Given the description of an element on the screen output the (x, y) to click on. 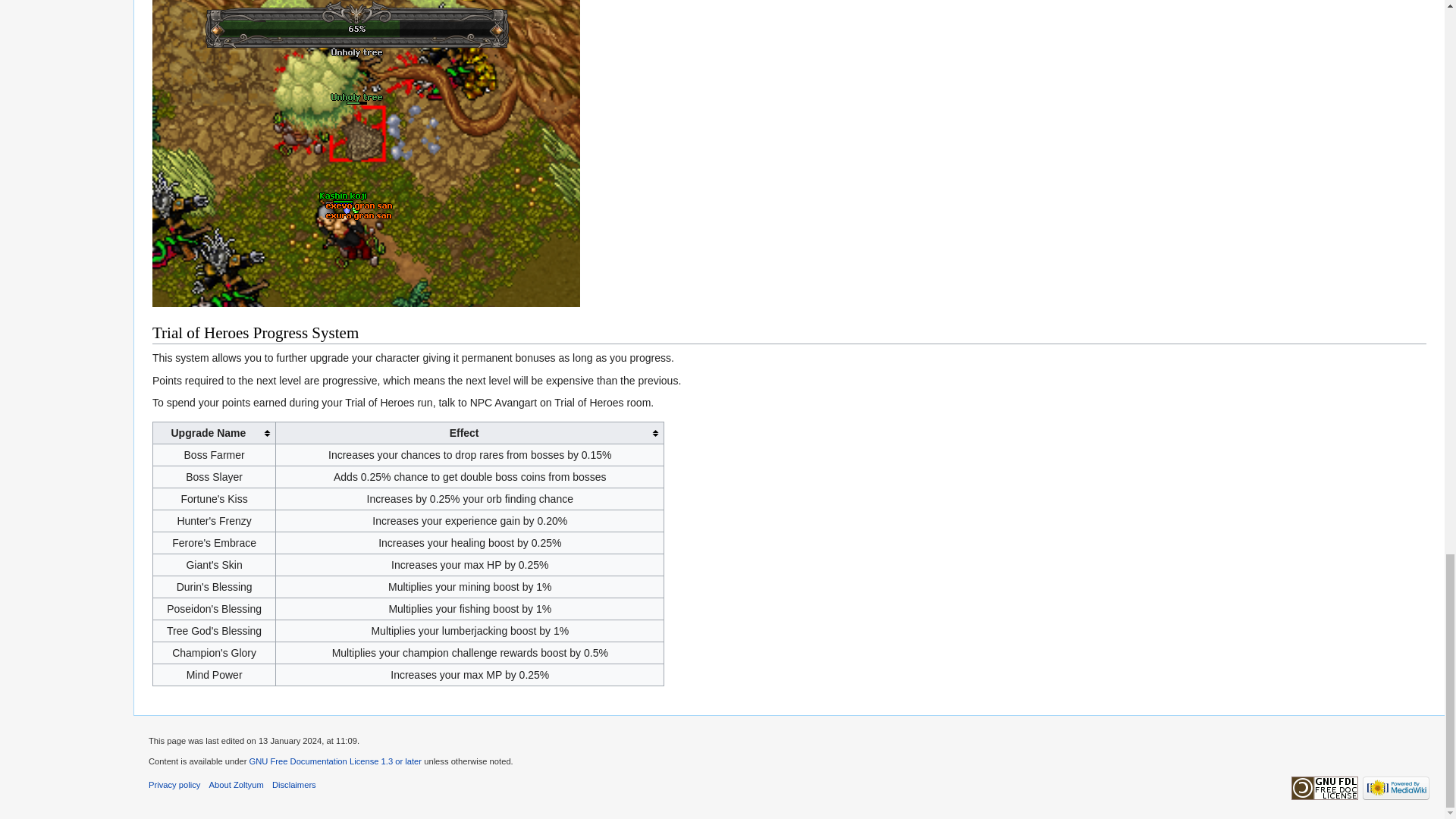
Sort ascending (469, 433)
Sort ascending (214, 433)
